Given the description of an element on the screen output the (x, y) to click on. 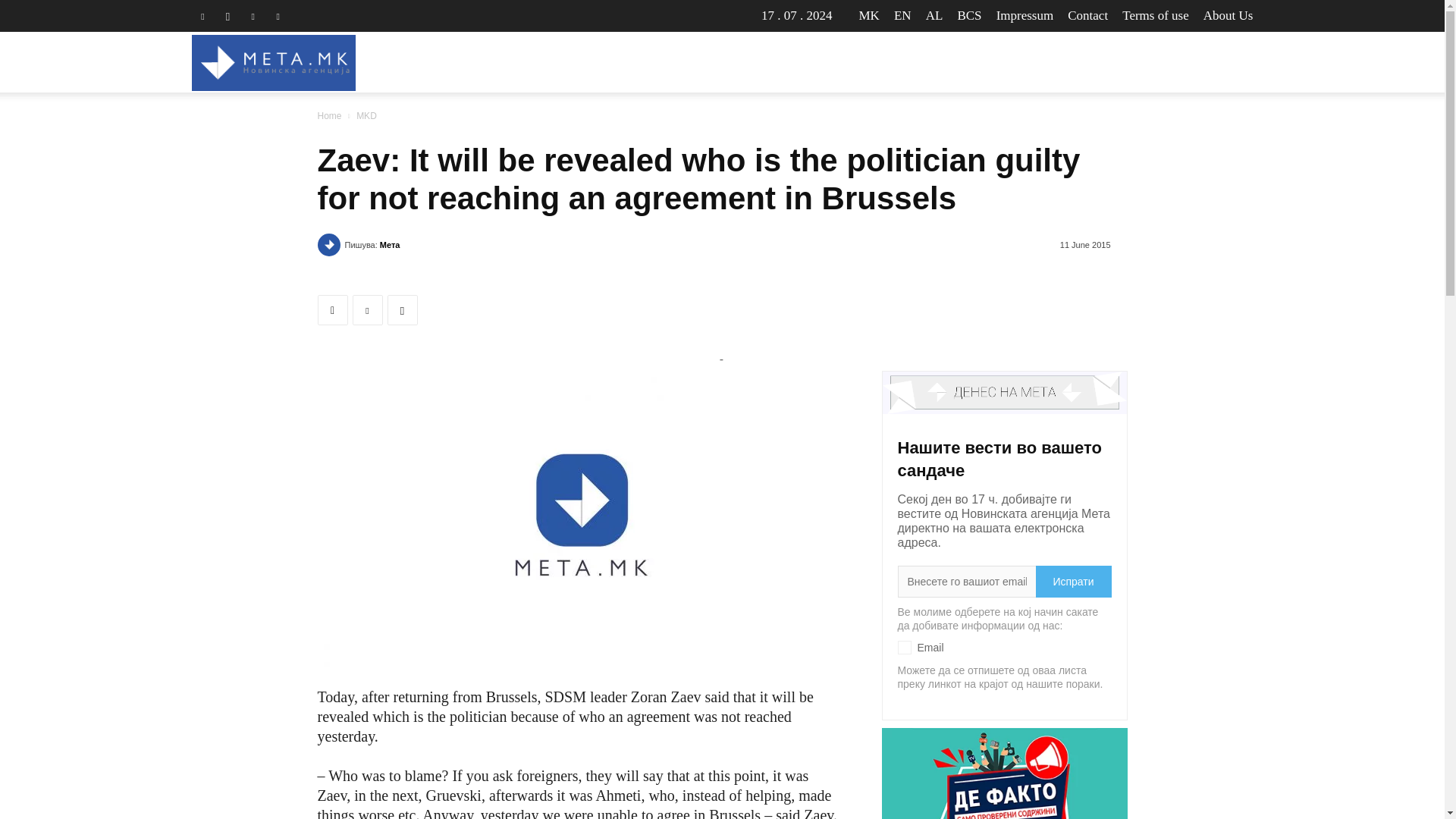
MK (869, 15)
MKD (748, 61)
AL (934, 15)
AL (934, 15)
About Us (1228, 15)
MK (869, 15)
EN (902, 15)
Terms of use (1155, 15)
Search (1210, 134)
EN (902, 15)
Contact (1087, 15)
Meta.mk (272, 61)
BCS (968, 15)
news agency (272, 62)
HOME (686, 61)
